Given the description of an element on the screen output the (x, y) to click on. 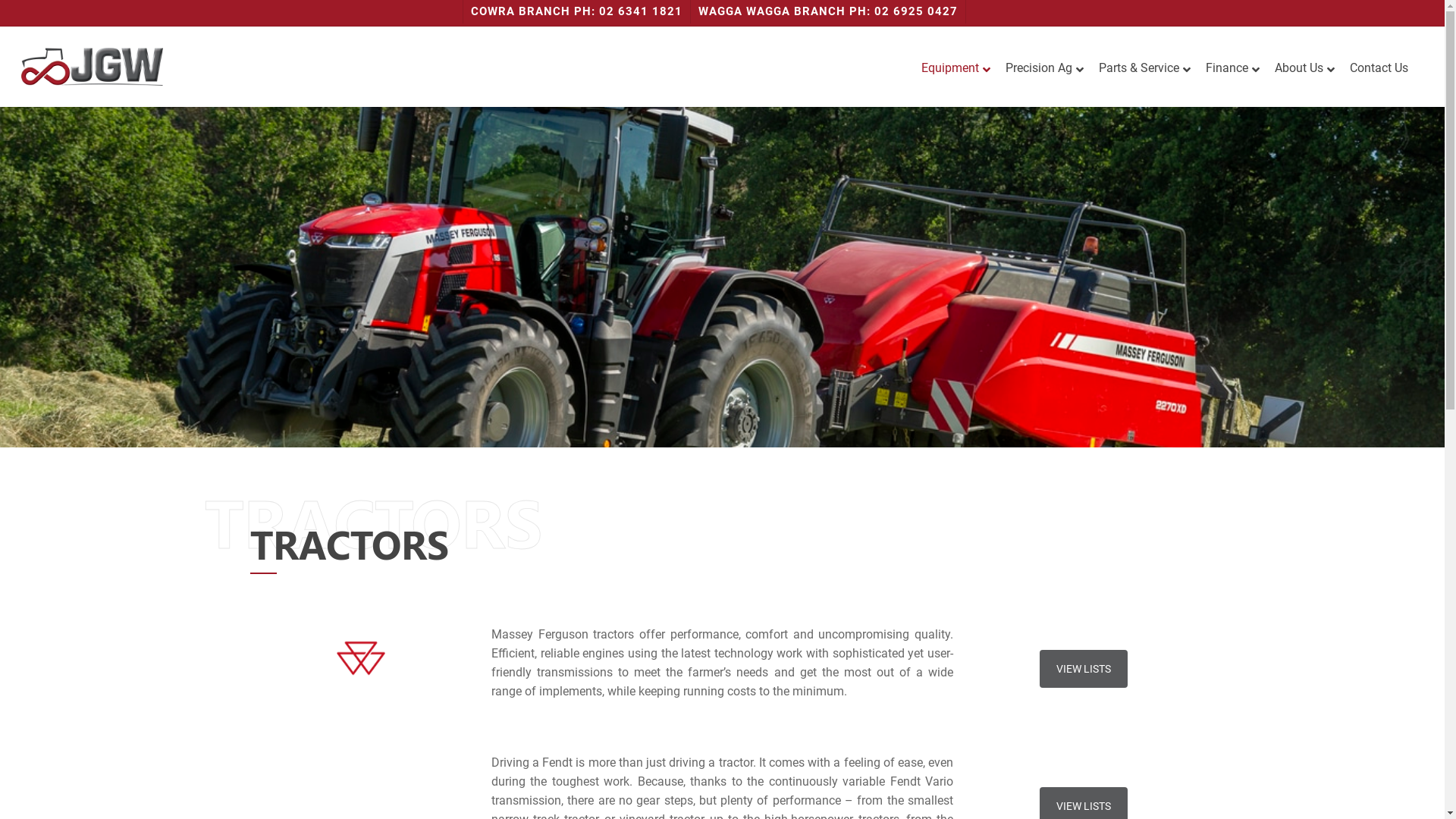
Finance Element type: text (1232, 68)
About Us Element type: text (1304, 68)
COWRA BRANCH PH: 02 6341 1821 Element type: text (576, 11)
WAGGA WAGGA BRANCH PH: 02 6925 0427 Element type: text (827, 11)
Parts & Service Element type: text (1144, 68)
Equipment Element type: text (955, 68)
VIEW LISTS Element type: text (1083, 668)
Contact Us Element type: text (1382, 68)
Precision Ag Element type: text (1044, 68)
